Given the description of an element on the screen output the (x, y) to click on. 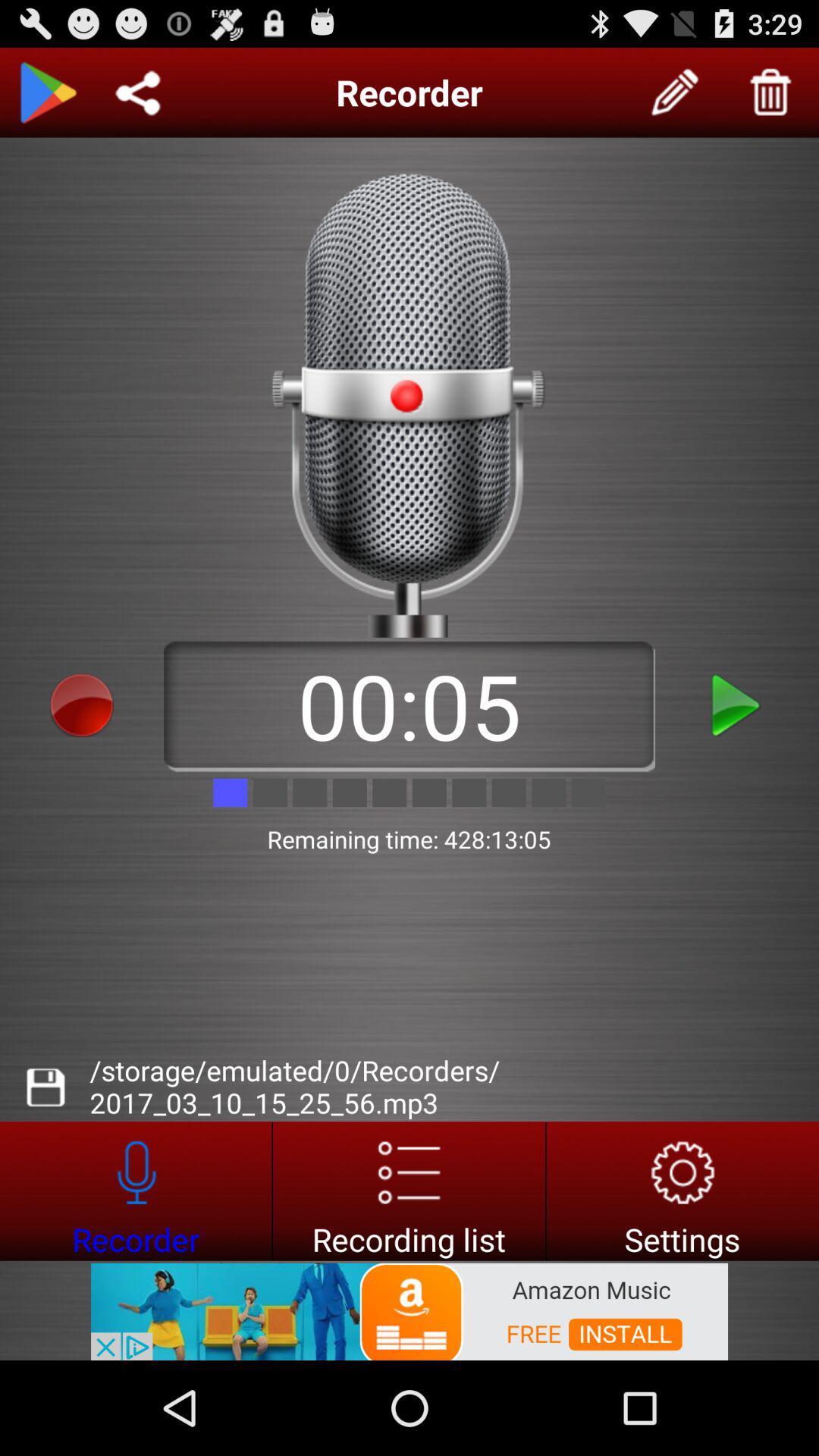
play this record (737, 705)
